Given the description of an element on the screen output the (x, y) to click on. 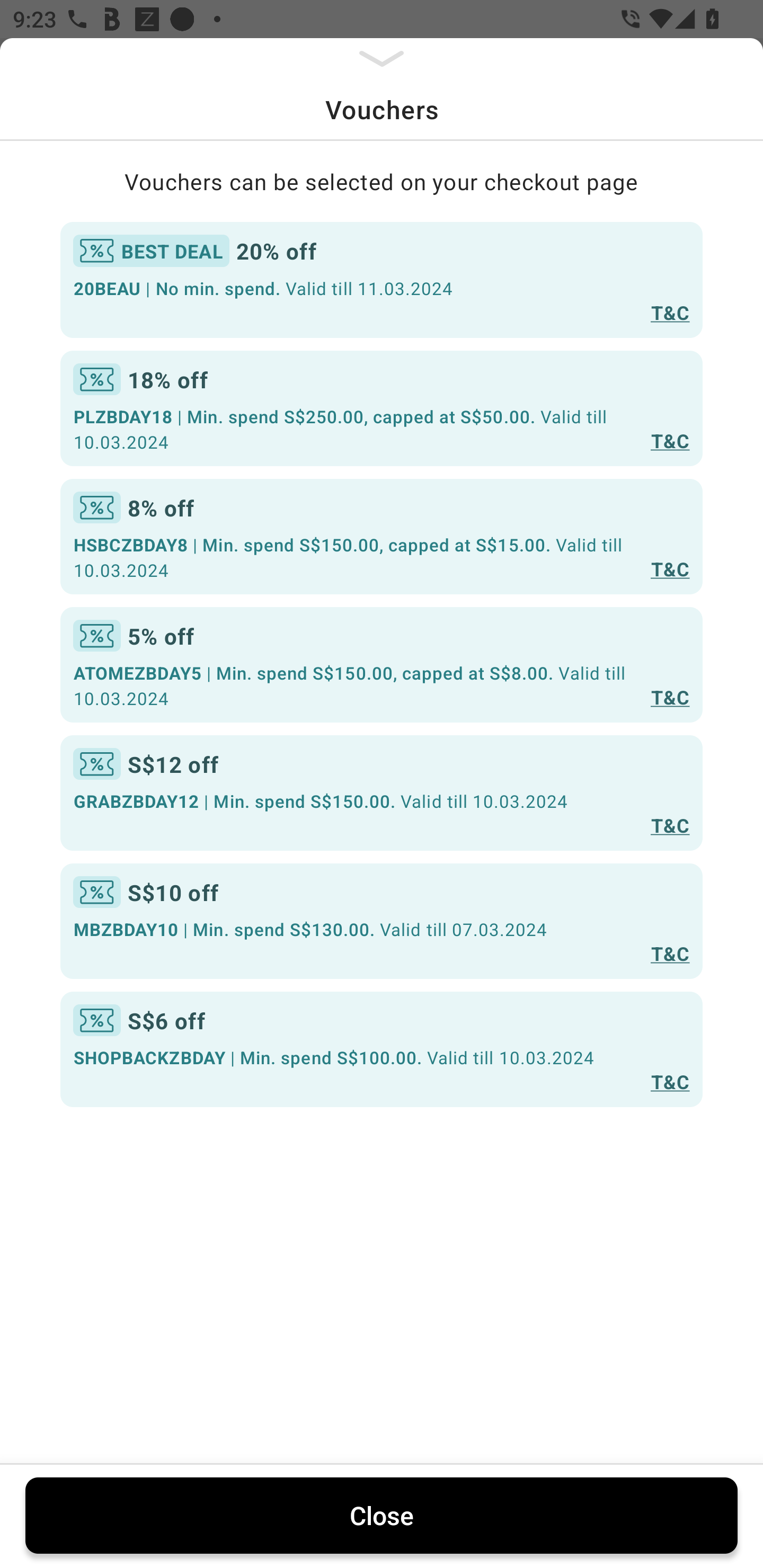
T&C (669, 311)
T&C (669, 440)
T&C (669, 568)
T&C (669, 696)
T&C (669, 824)
T&C (669, 952)
T&C (669, 1080)
Close (381, 1515)
